Given the description of an element on the screen output the (x, y) to click on. 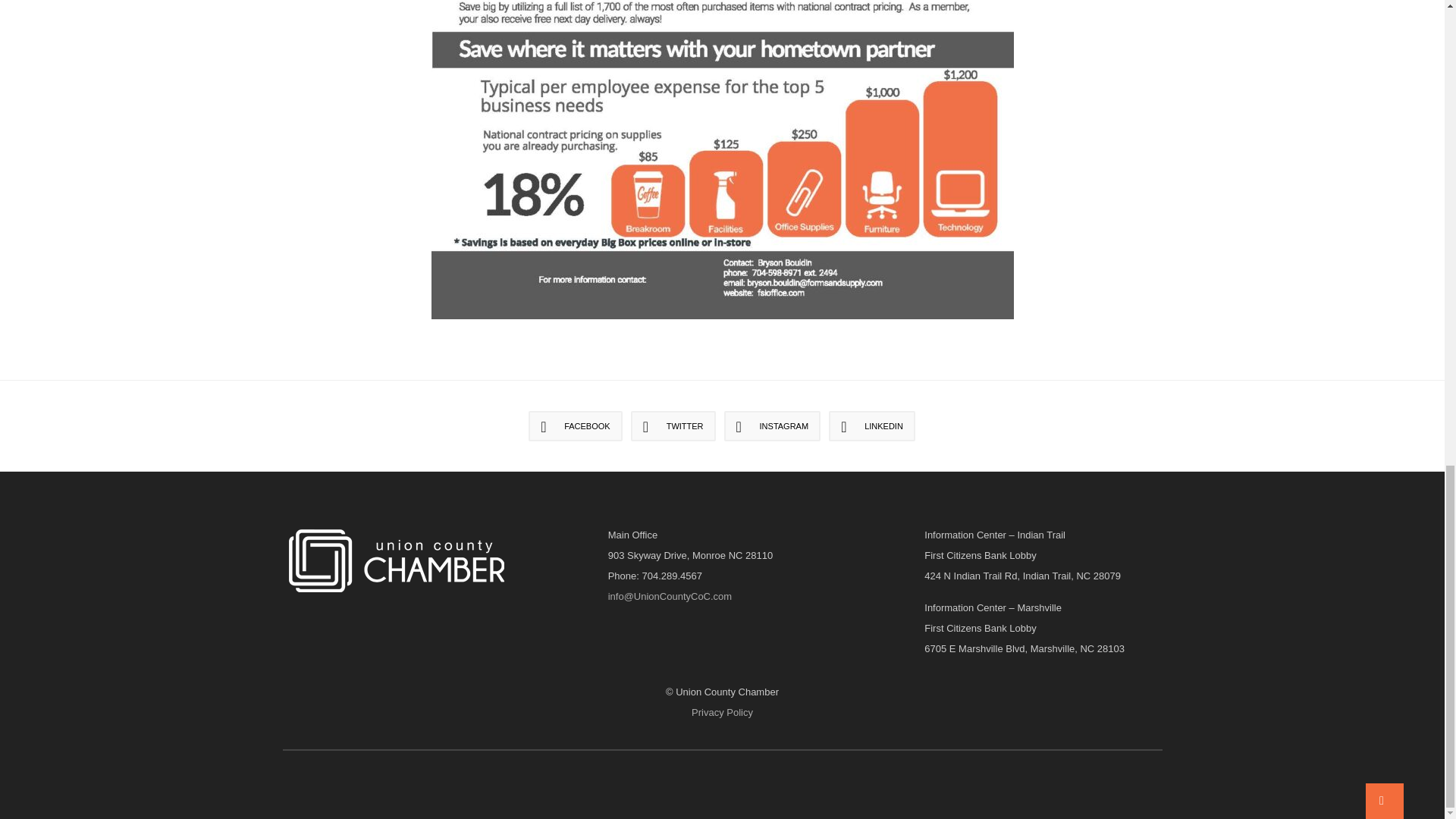
LinkedIn (871, 426)
Twitter (673, 426)
Instagram (772, 426)
Facebook (575, 426)
